Given the description of an element on the screen output the (x, y) to click on. 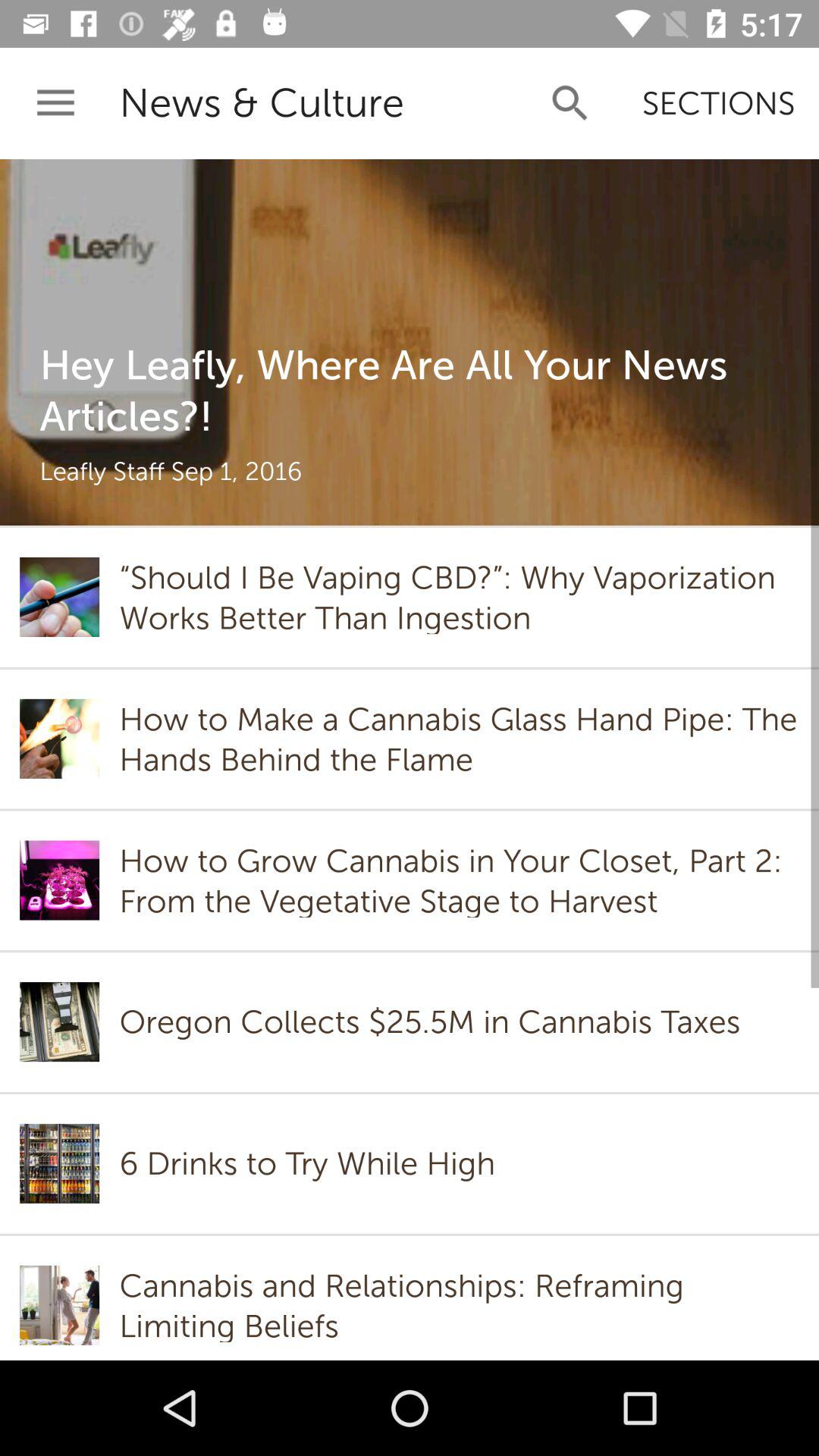
tap item next to sections item (570, 103)
